Given the description of an element on the screen output the (x, y) to click on. 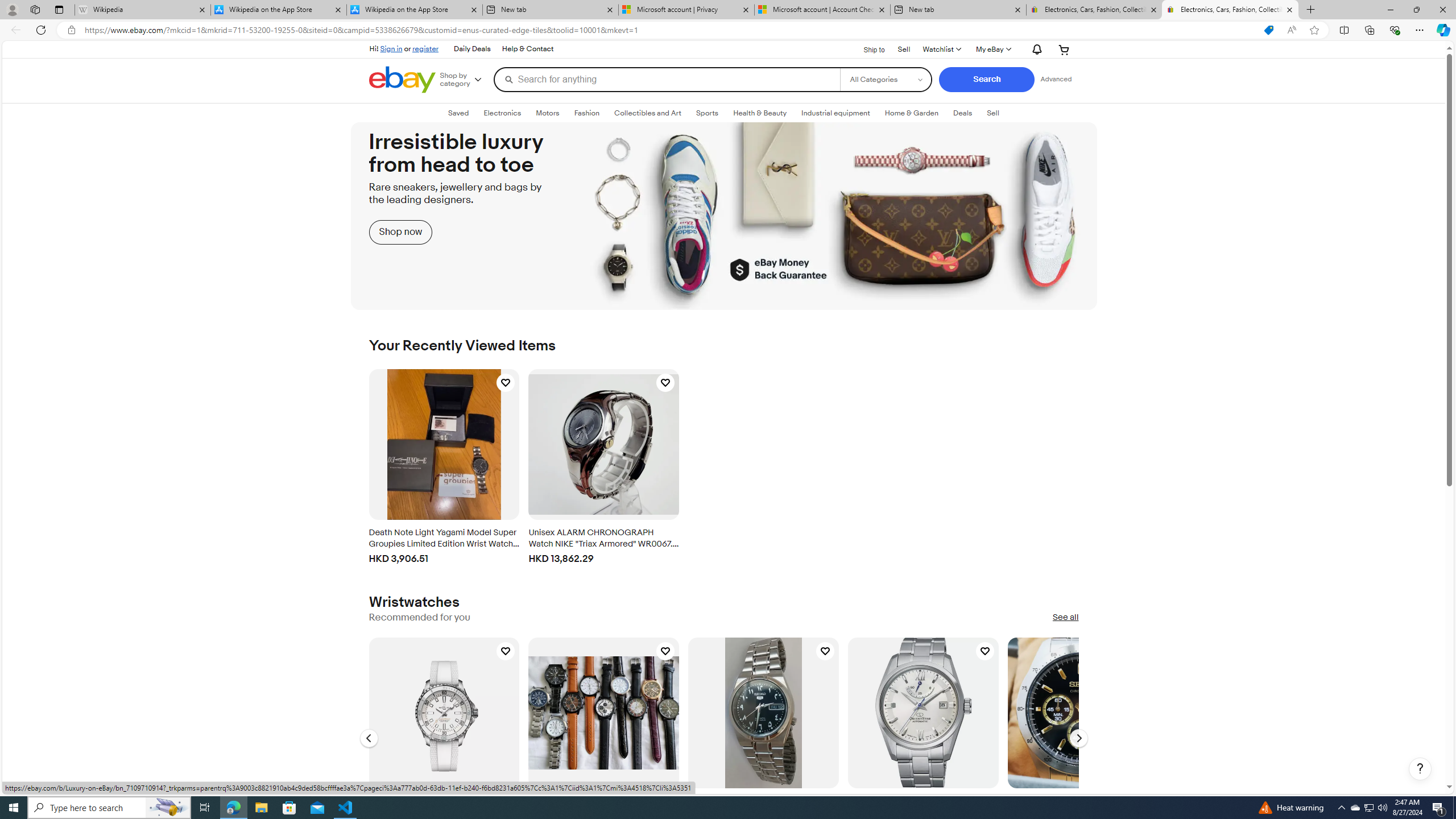
Ship to (866, 49)
FashionExpand: Fashion (586, 112)
Deals (962, 112)
Expand Cart (1064, 49)
Health & Beauty (760, 112)
Watchlist (940, 49)
eBay Home (401, 79)
Go to the next slide, Wristwatches - Carousel (1077, 737)
